Given the description of an element on the screen output the (x, y) to click on. 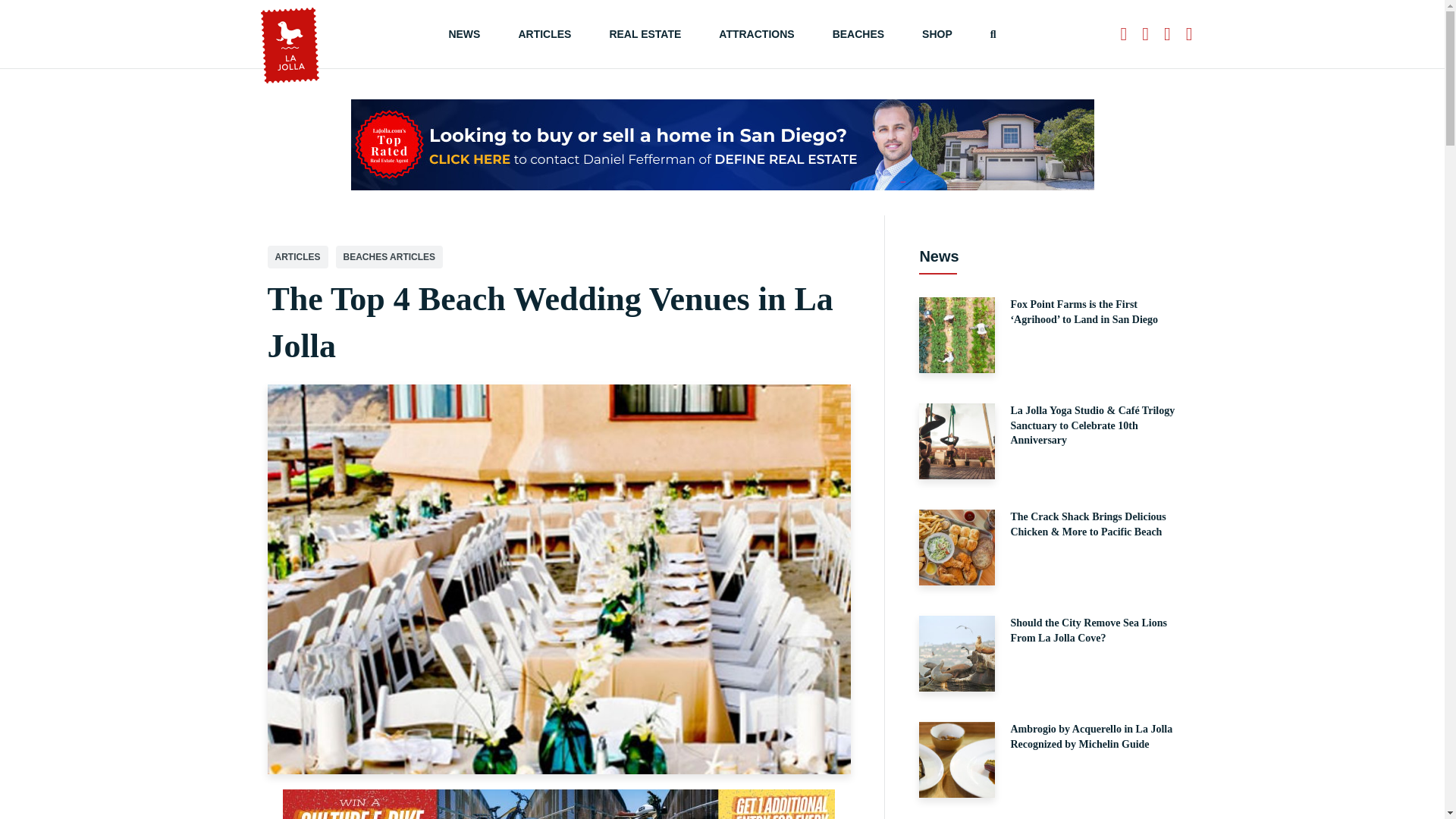
ARTICLES (296, 256)
REAL ESTATE (644, 33)
NEWS (464, 33)
ARTICLES (544, 33)
BEACHES (857, 33)
BEACHES ARTICLES (388, 256)
Should the City Remove Sea Lions From La Jolla Cove? (1047, 653)
ATTRACTIONS (756, 33)
SHOP (936, 33)
